Given the description of an element on the screen output the (x, y) to click on. 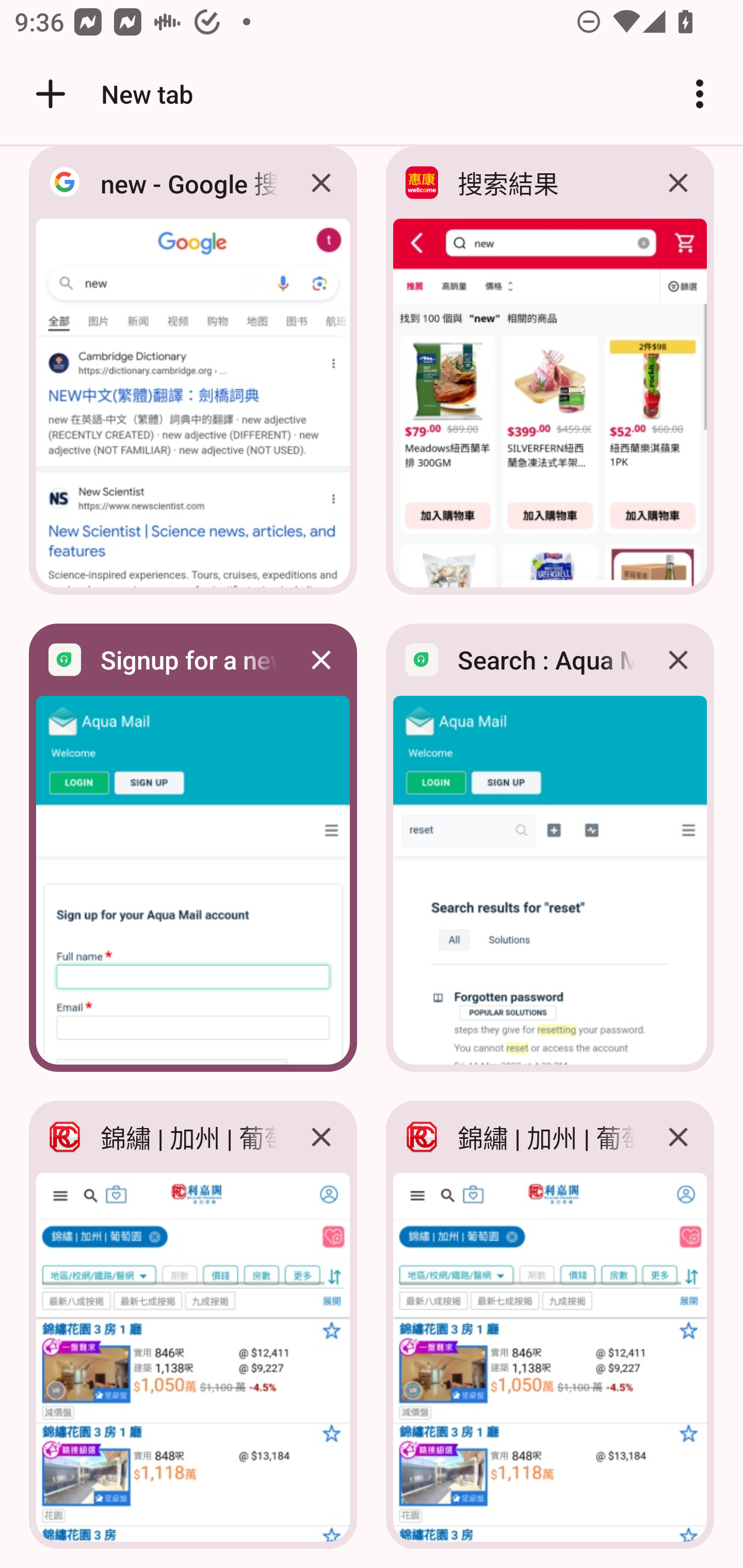
New tab (111, 93)
Customize and control Google Chrome (699, 93)
Close new - Google 搜索 tab (320, 184)
搜索結果 搜索結果, tab Close 搜索結果 tab (549, 376)
Close 搜索結果 tab (677, 184)
Close Signup for a new account : Aqua Mail tab (320, 659)
Close Search : Aqua Mail tab (677, 659)
